Given the description of an element on the screen output the (x, y) to click on. 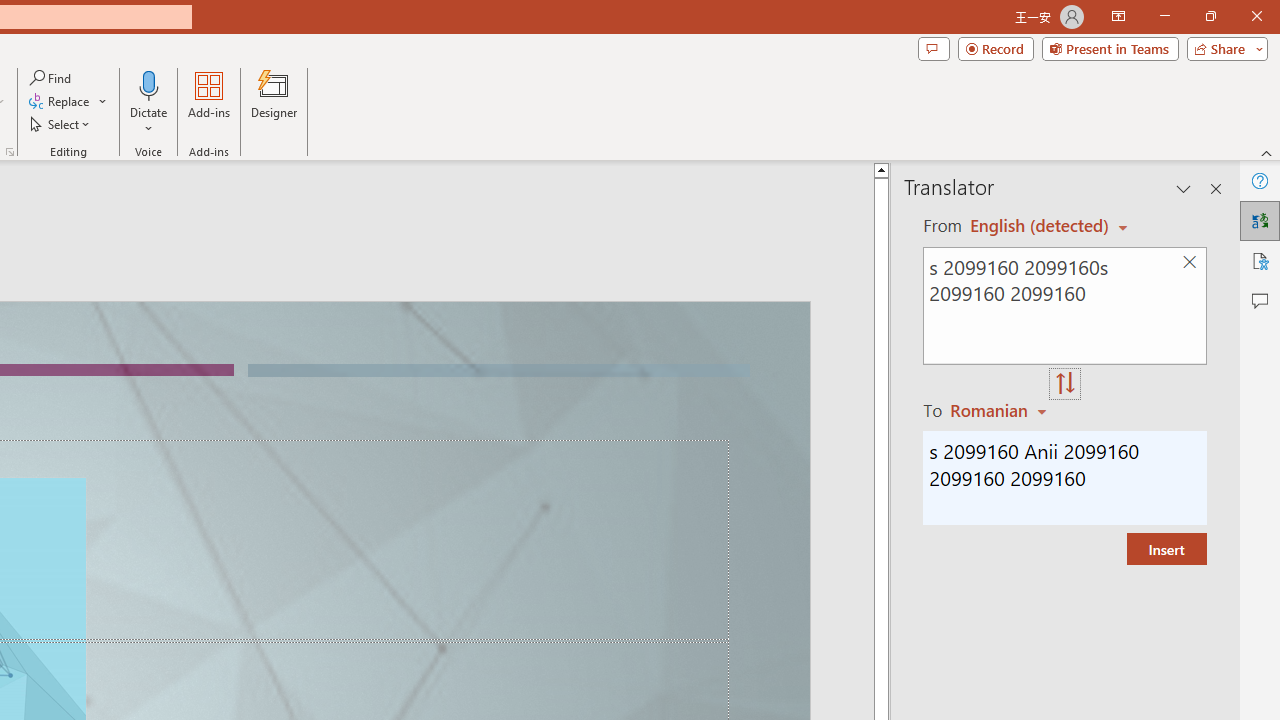
Clear text (1189, 262)
